Given the description of an element on the screen output the (x, y) to click on. 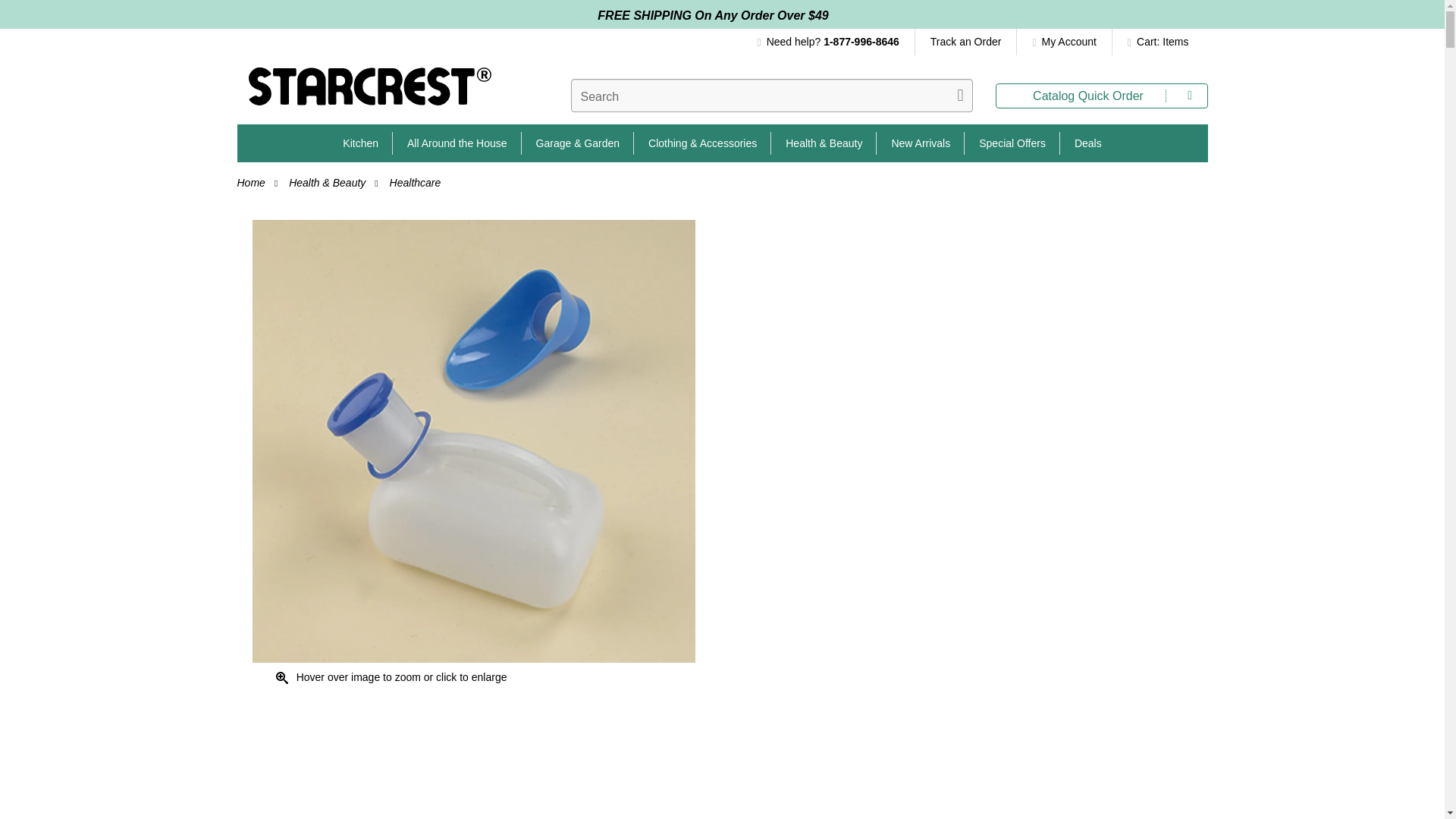
My Account (1064, 41)
Cart: Items (1154, 41)
Need help? 1-877-996-8646 (835, 41)
Track an Order (965, 41)
Customer Service Help (835, 41)
Homepage Link (368, 92)
